Given the description of an element on the screen output the (x, y) to click on. 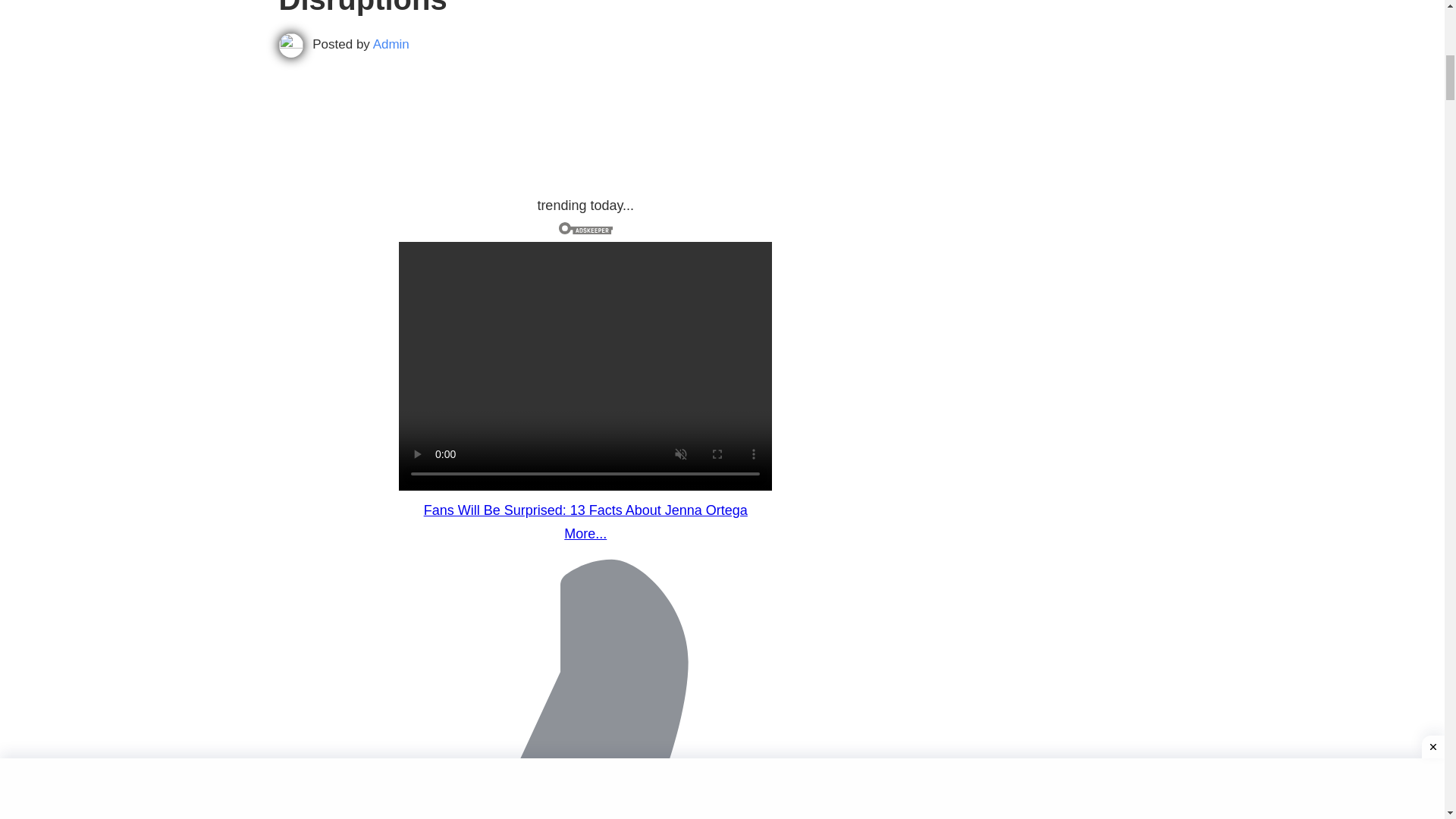
Admin (390, 43)
View all posts by Admin (390, 43)
